Given the description of an element on the screen output the (x, y) to click on. 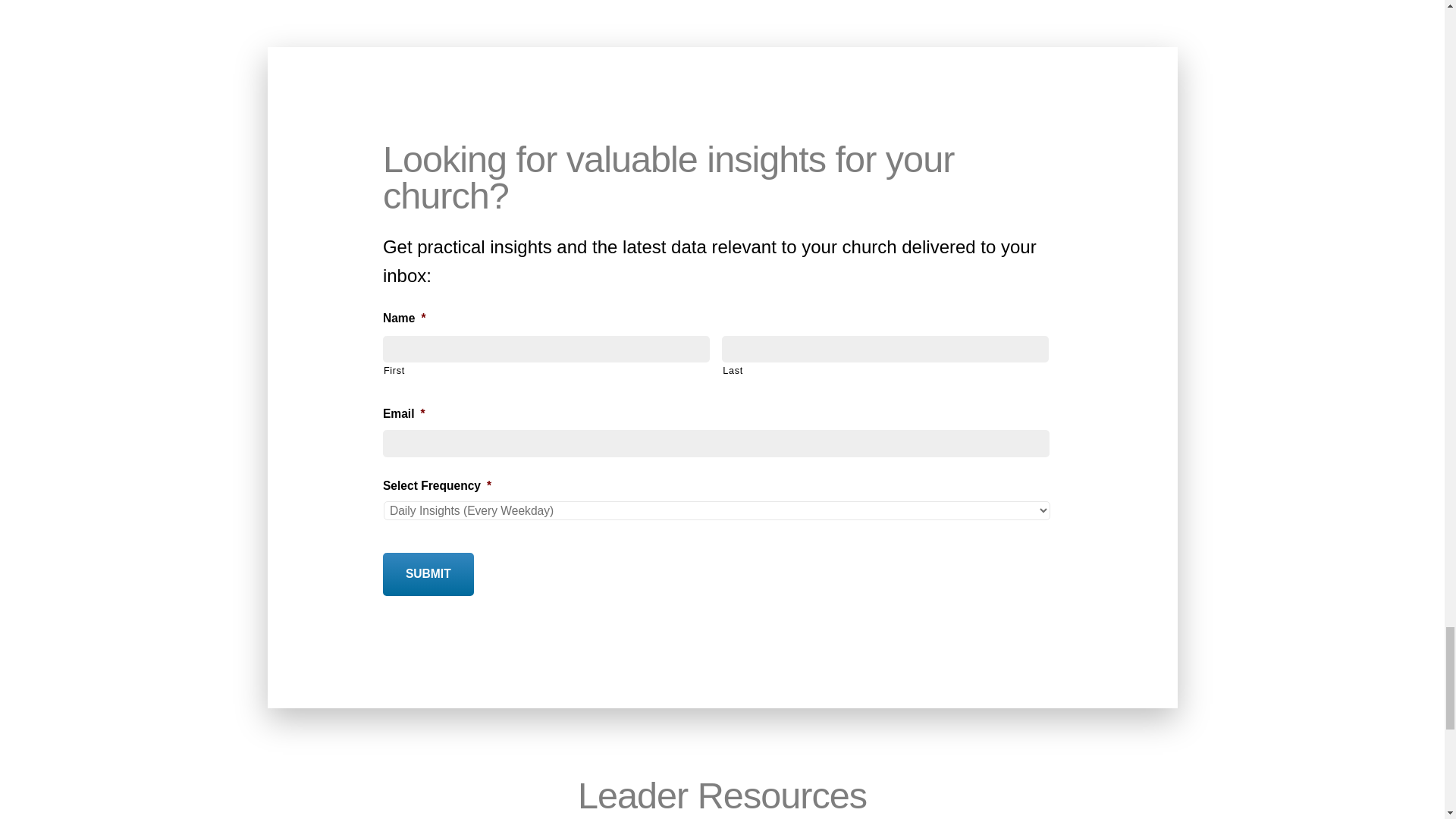
Submit (428, 573)
